Given the description of an element on the screen output the (x, y) to click on. 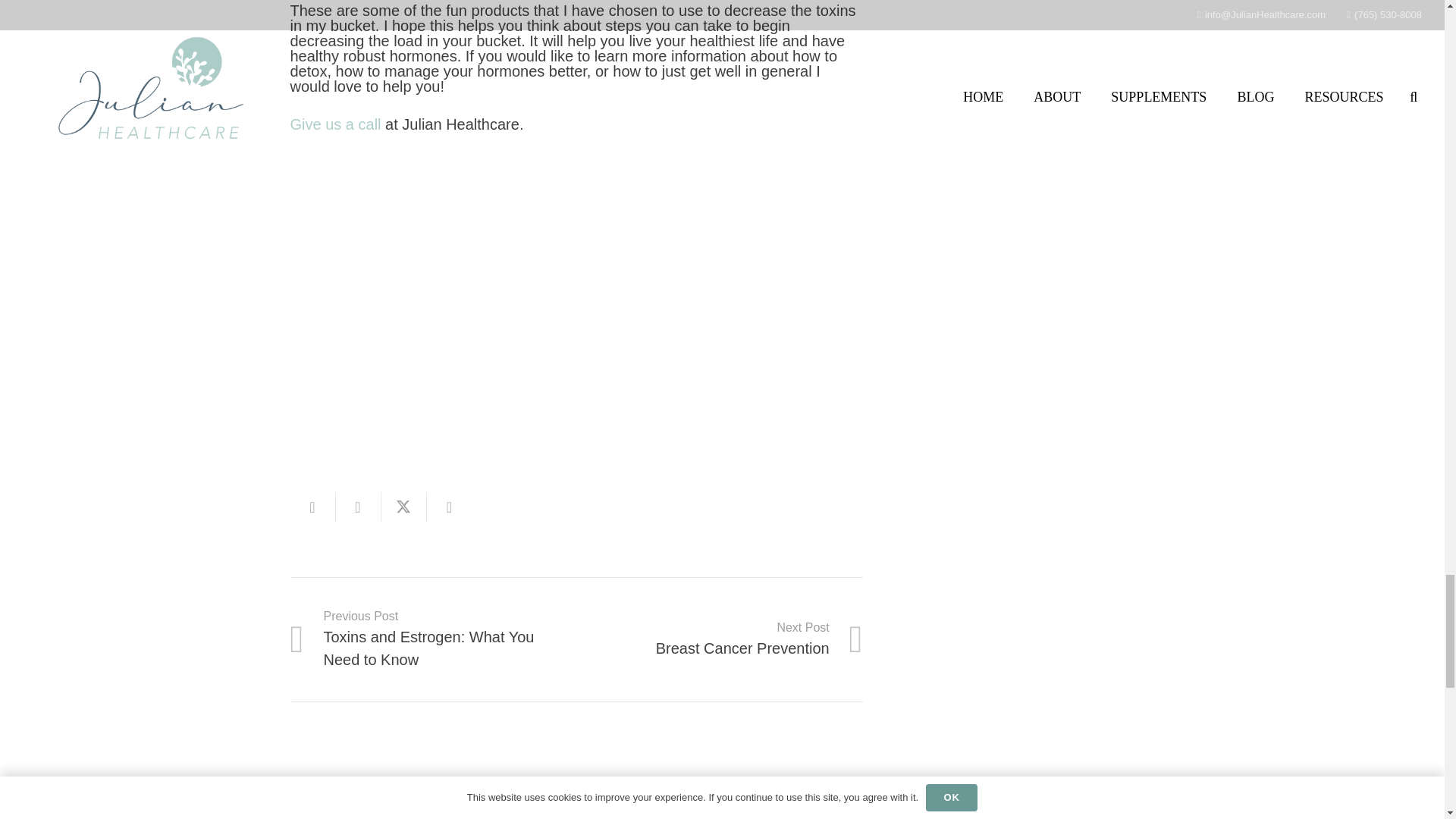
Give us a call (334, 124)
Share this (448, 507)
Toxins and Estrogen: What You Need to Know (432, 638)
Share this (432, 638)
Tweet this (357, 507)
Email this (403, 507)
Breast Cancer Prevention (719, 638)
